Given the description of an element on the screen output the (x, y) to click on. 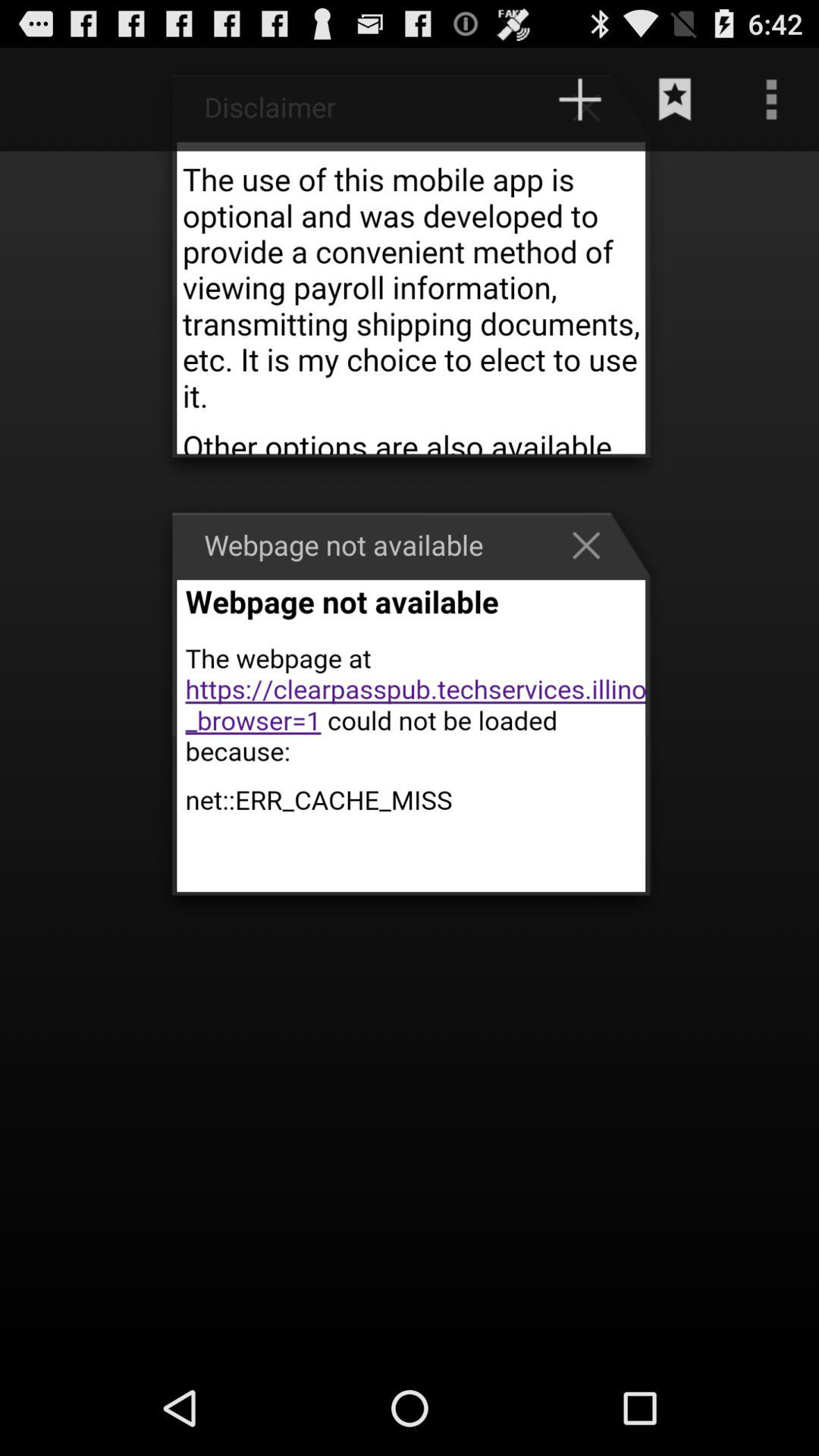
click on menu icon (771, 99)
